Given the description of an element on the screen output the (x, y) to click on. 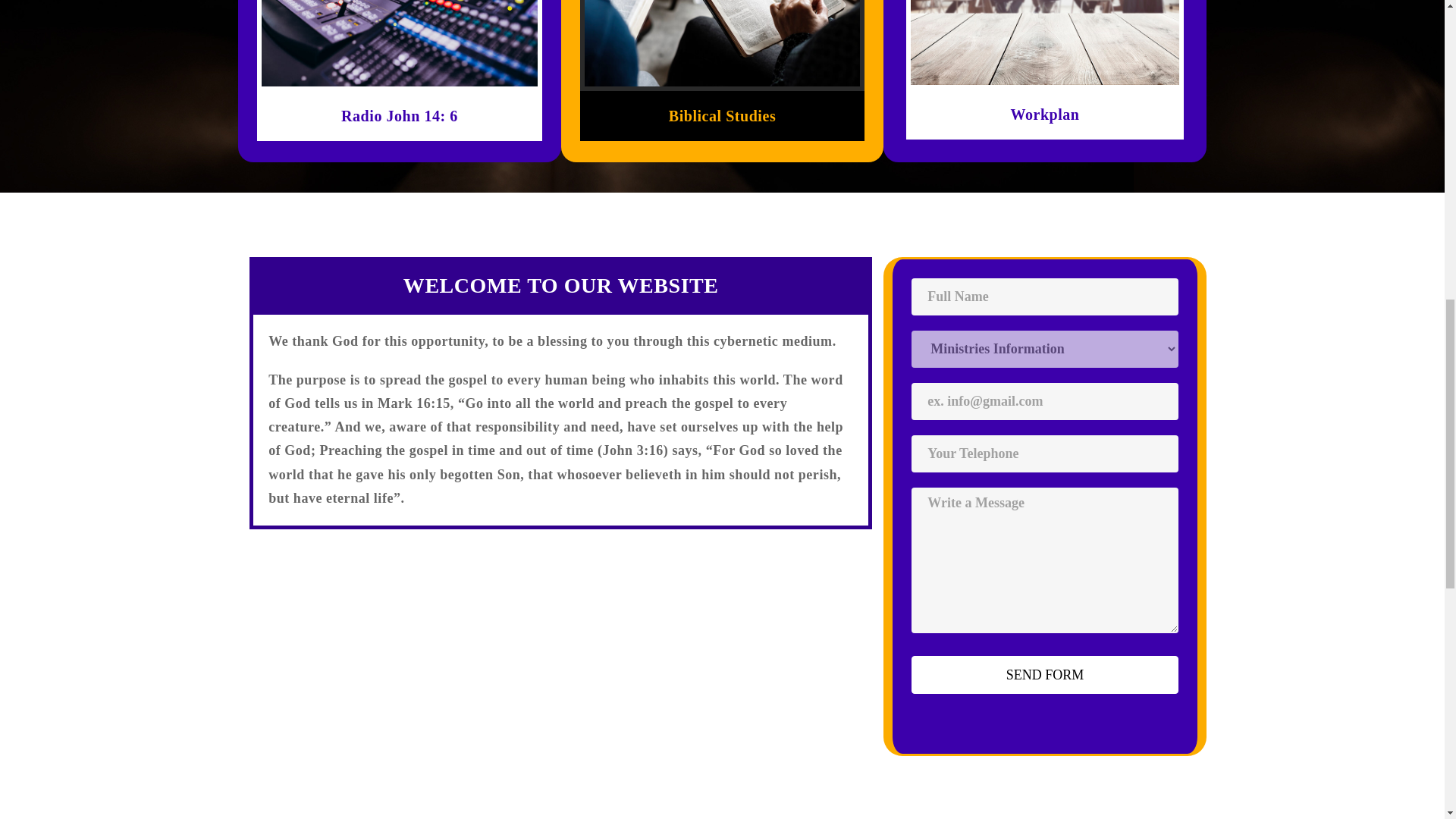
Para Tu Ministerio (722, 43)
SEND FORM (1044, 674)
Para Tu Ministerio (399, 43)
Para Tu Ministerio (1045, 42)
SEND FORM (1044, 674)
